Given the description of an element on the screen output the (x, y) to click on. 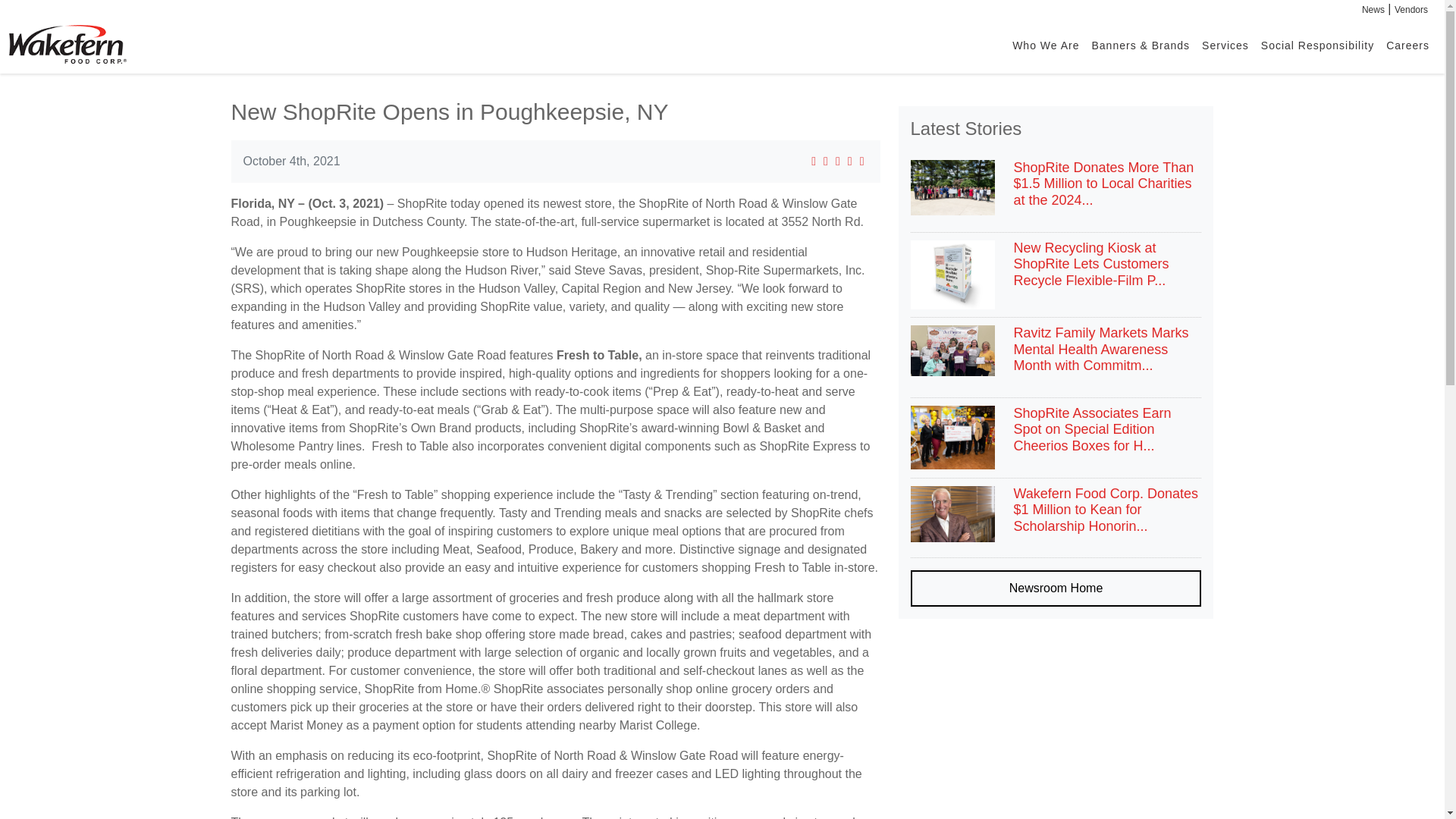
Services (1225, 44)
Who We Are (1045, 44)
Social Responsibility (1317, 44)
Careers (1407, 44)
Newsroom Home (1055, 588)
Vendors (1411, 9)
News (1372, 9)
